Given the description of an element on the screen output the (x, y) to click on. 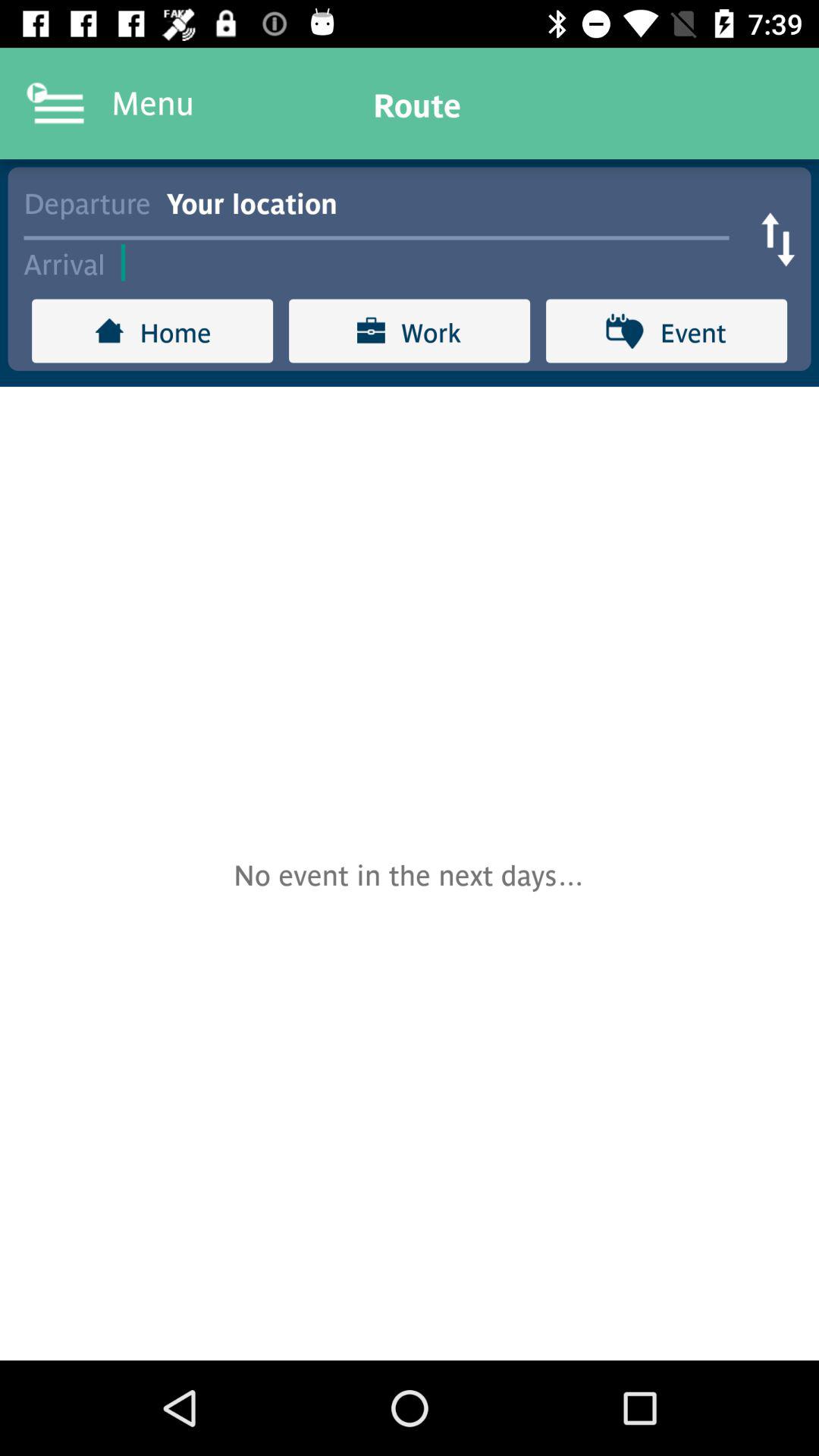
type your final destination (433, 261)
